Given the description of an element on the screen output the (x, y) to click on. 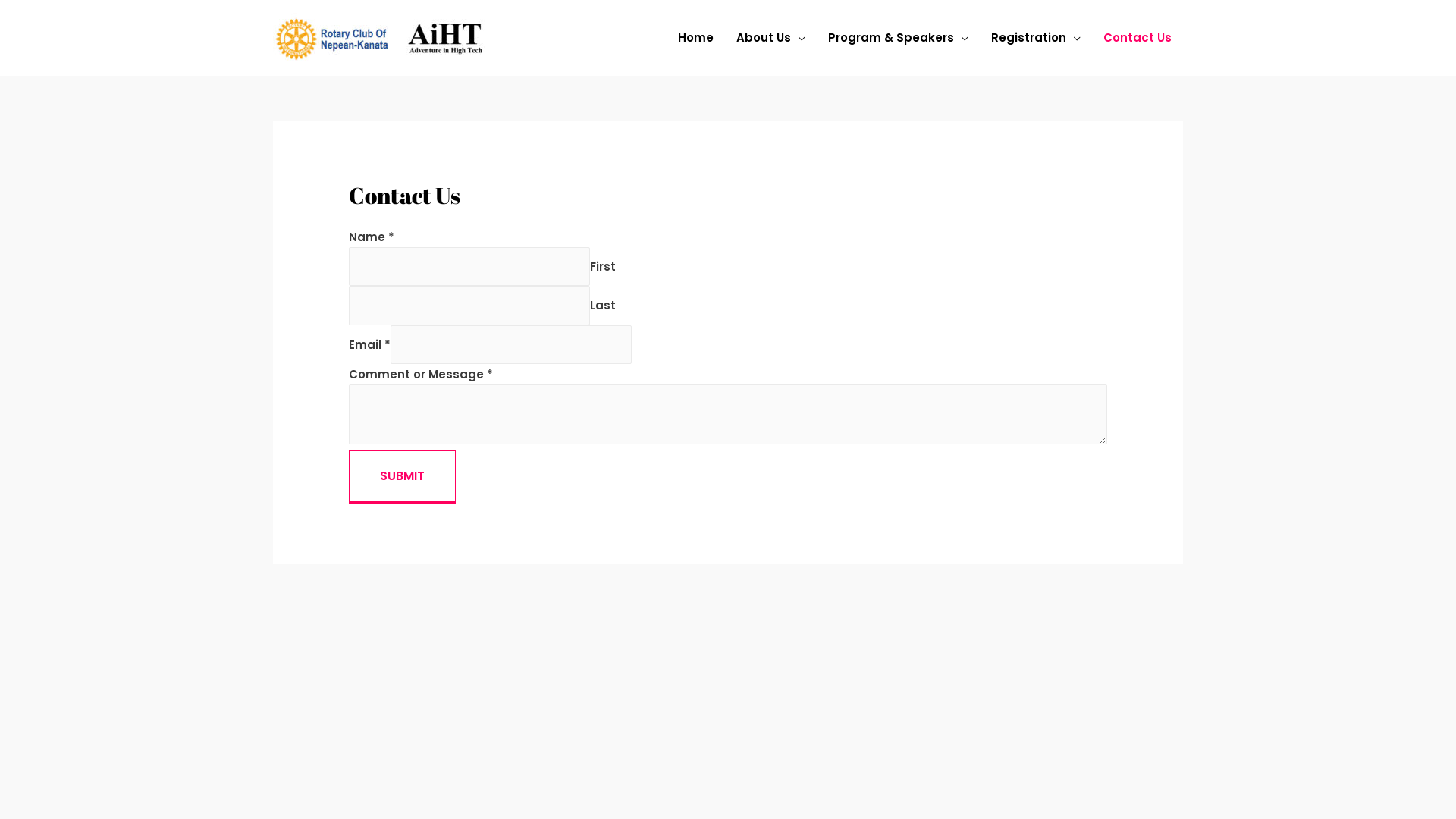
Contact Us Element type: text (1137, 37)
About Us Element type: text (770, 37)
Registration Element type: text (1035, 37)
SUBMIT Element type: text (401, 476)
Program & Speakers Element type: text (897, 37)
Home Element type: text (695, 37)
